Given the description of an element on the screen output the (x, y) to click on. 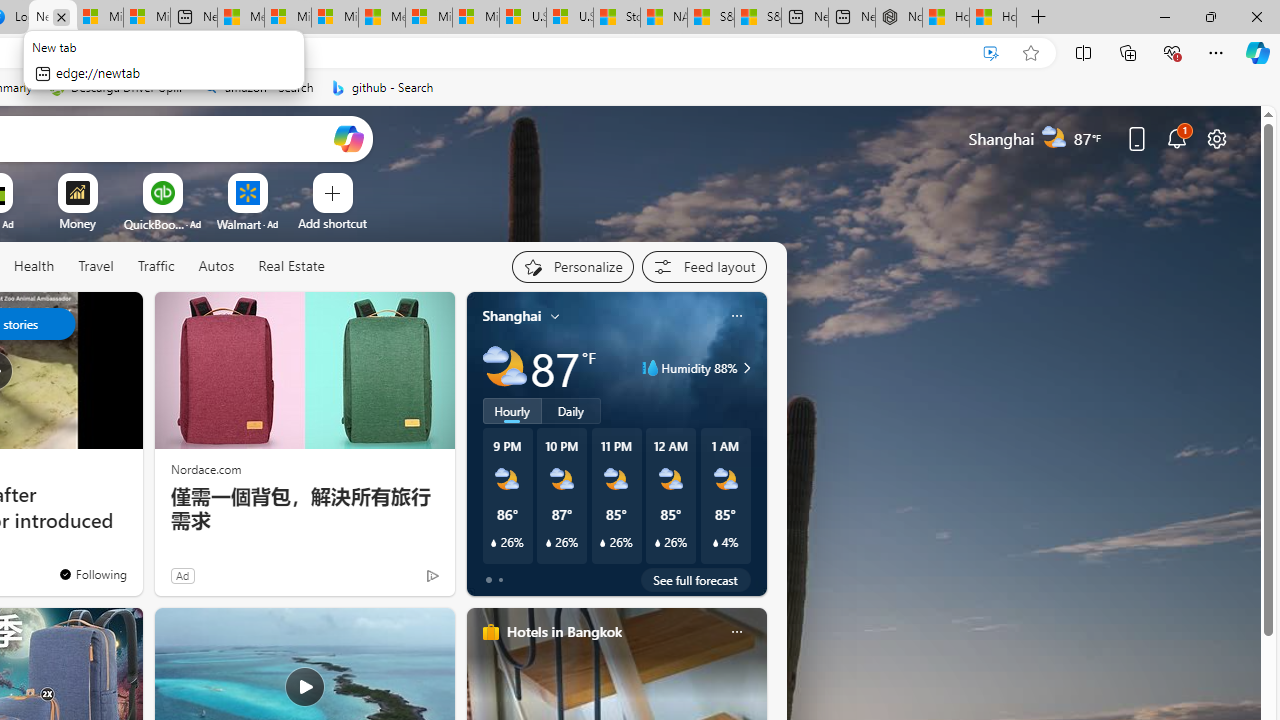
Shanghai (511, 315)
Health (34, 265)
Real Estate (291, 265)
Hotels in Bangkok (563, 631)
Traffic (155, 267)
Personalize your feed" (571, 266)
Ad (182, 575)
tab-0 (488, 579)
